Given the description of an element on the screen output the (x, y) to click on. 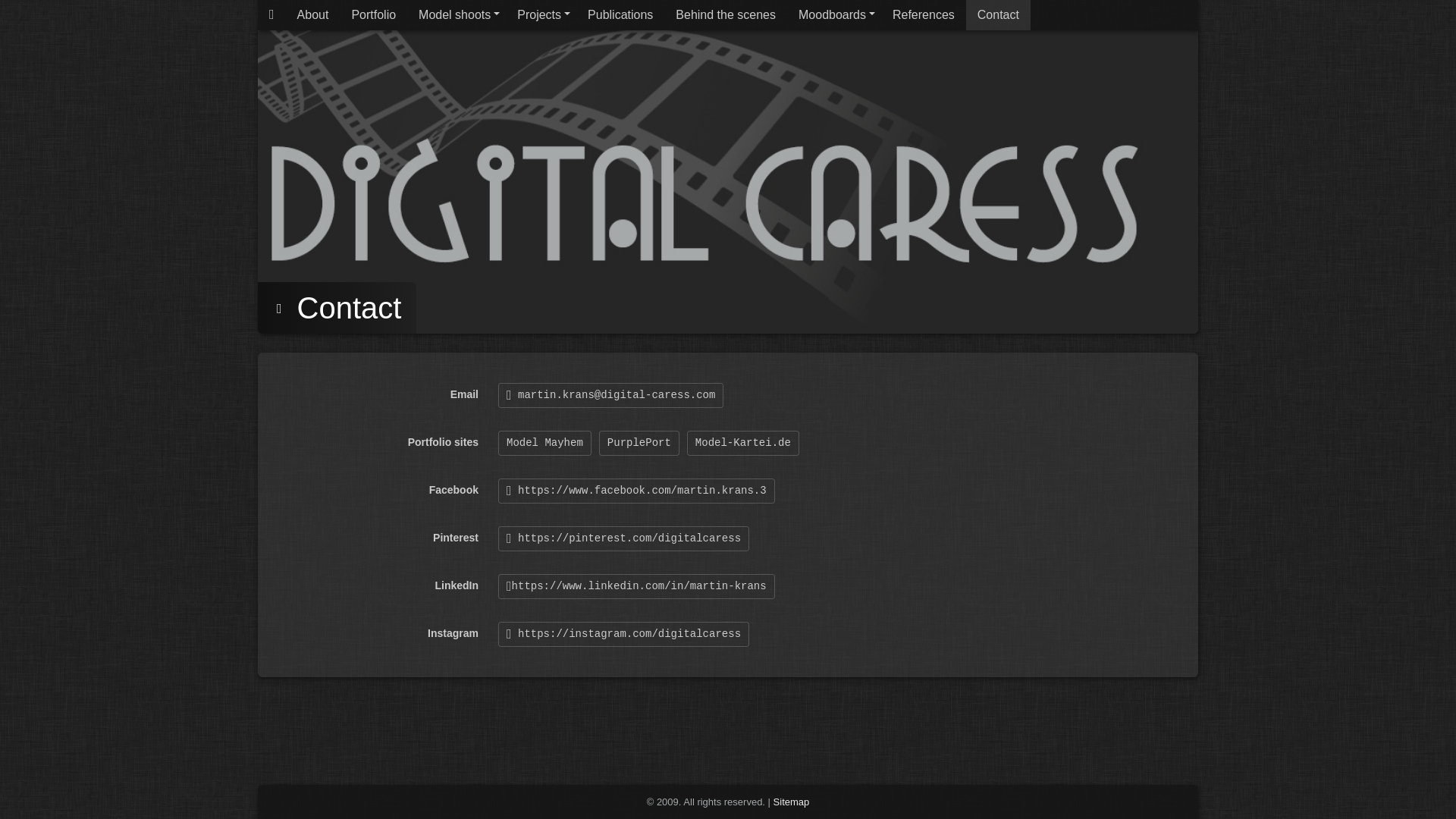
Portfolio (373, 15)
About (312, 15)
Model shoots (456, 15)
Main album page (271, 15)
